Given the description of an element on the screen output the (x, y) to click on. 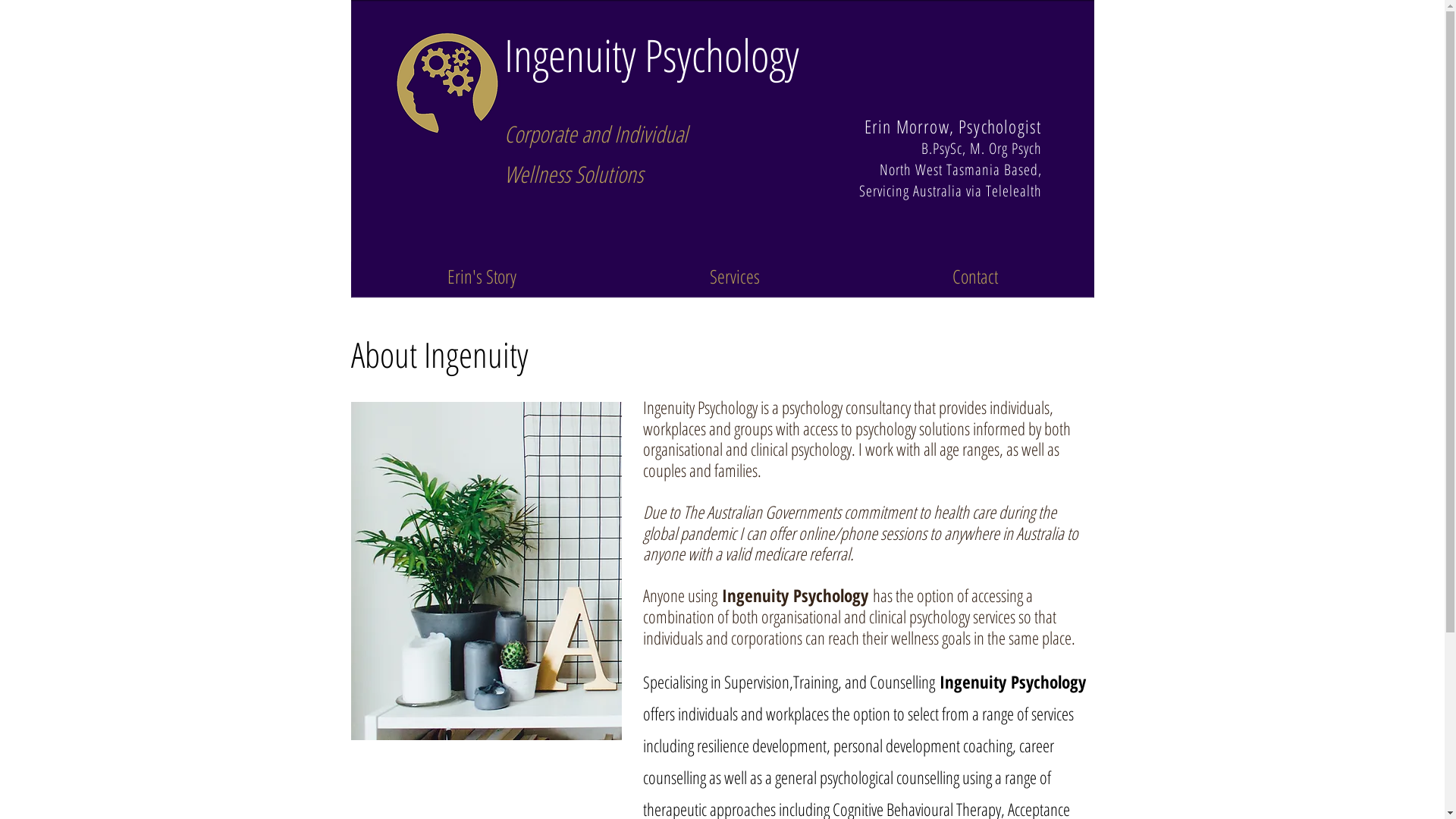
Services Element type: text (734, 275)
Erin Morrow, Psychologist Element type: text (952, 125)
Erin's Story Element type: text (480, 275)
Contact Element type: text (974, 275)
  Element type: text (918, 148)
